Given the description of an element on the screen output the (x, y) to click on. 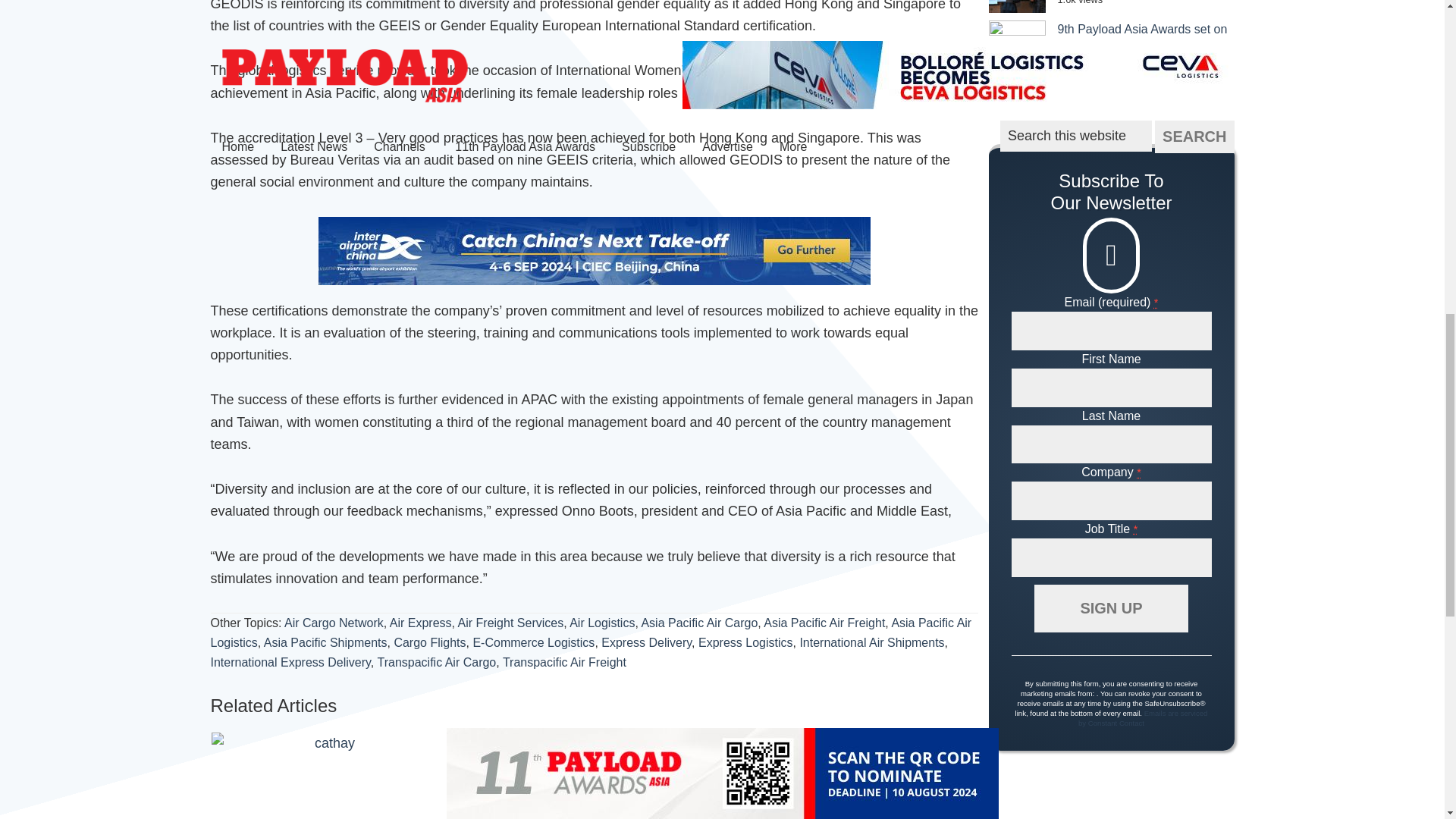
Air Express (420, 622)
Air Cargo Network (333, 622)
Sign up (1110, 608)
Air Freight Services (511, 622)
